Given the description of an element on the screen output the (x, y) to click on. 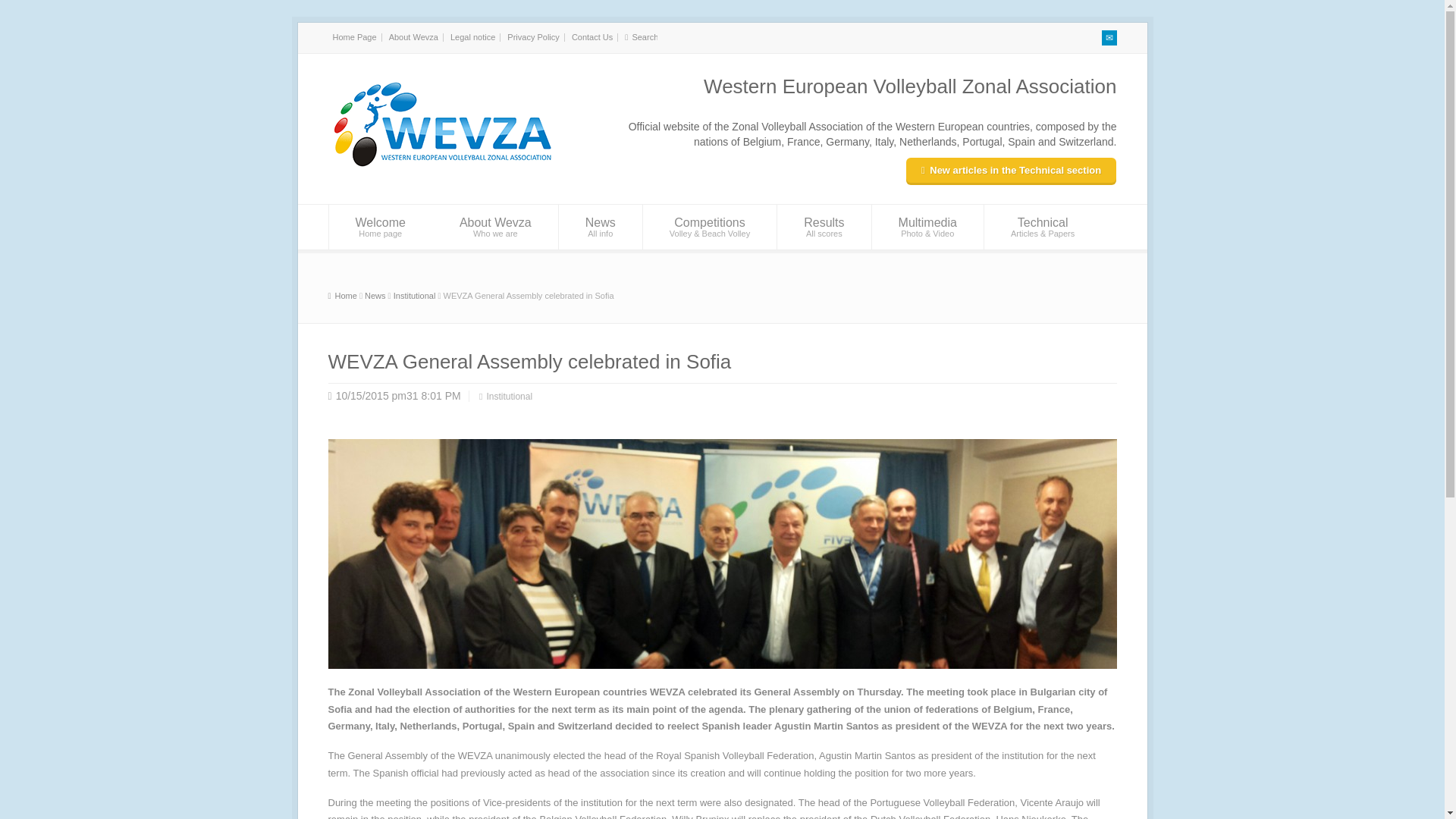
Contact Us (592, 36)
Home Page (353, 36)
Search (644, 36)
Institutional (414, 295)
About Wevza (413, 36)
News (375, 295)
Legal notice (472, 36)
View all posts in Institutional (414, 295)
WEVZA Volleyball (494, 226)
